Given the description of an element on the screen output the (x, y) to click on. 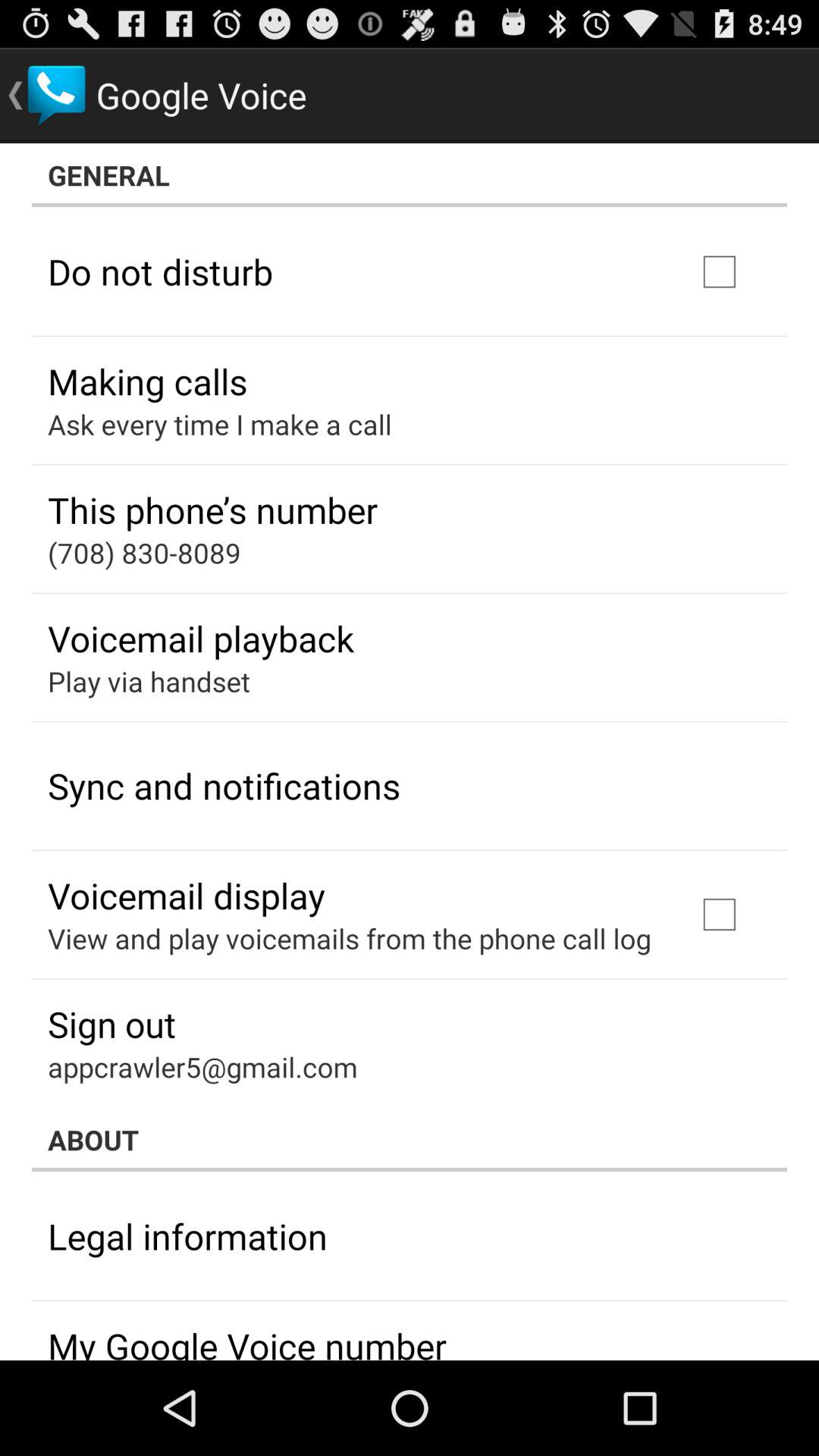
launch the app below making calls app (219, 424)
